Given the description of an element on the screen output the (x, y) to click on. 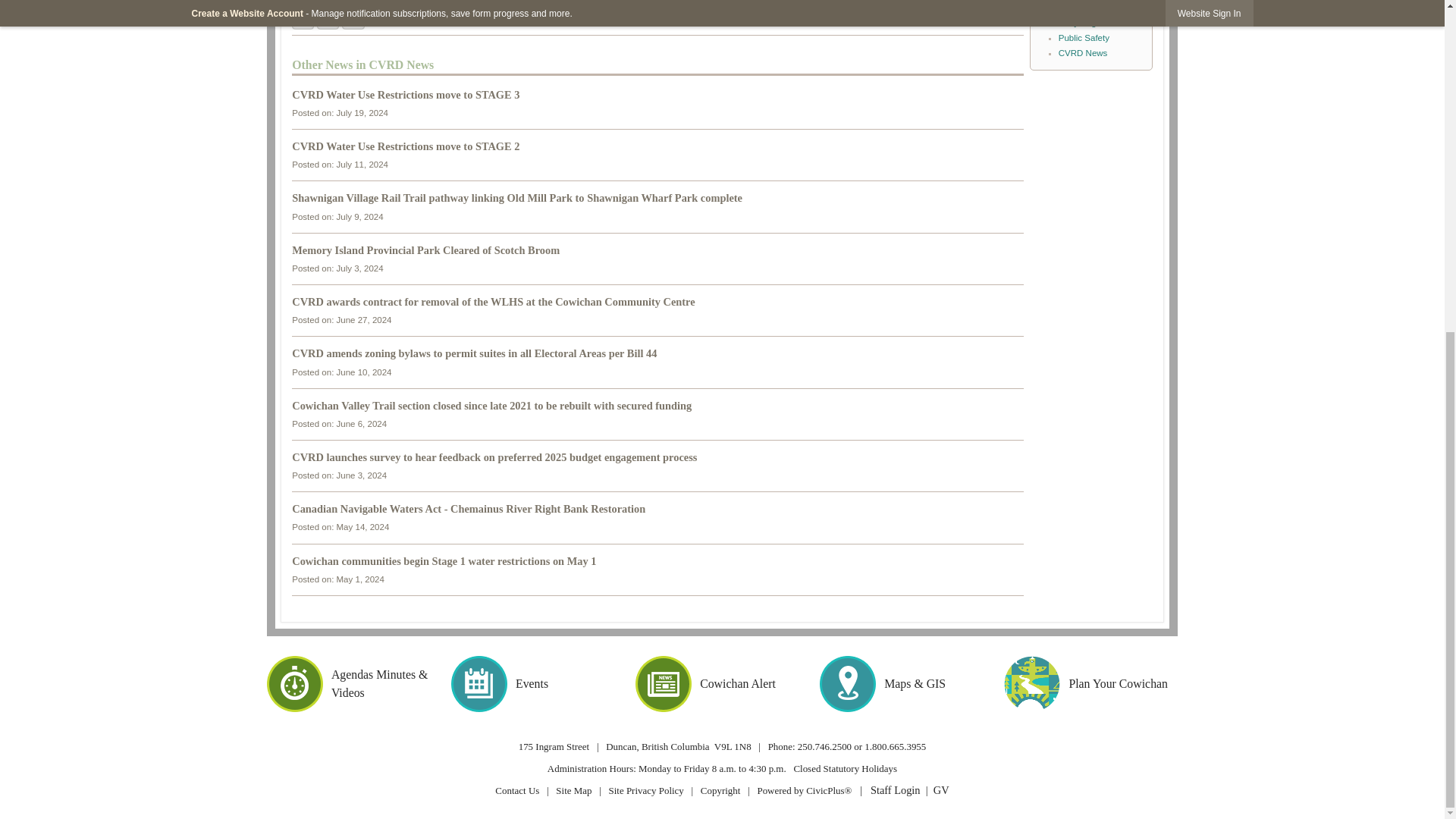
All Categories (1085, 0)
CVRD Water Use Restrictions move to STAGE 3 (405, 94)
CVRD Water Use Restrictions move to STAGE 2 (405, 146)
Share via Email (352, 20)
Share on Twitter (328, 20)
Share on Facebook (302, 20)
Public Safety (1083, 37)
CVRD News (1083, 52)
Memory Island Provincial Park Cleared of Scotch Broom (425, 250)
